Given the description of an element on the screen output the (x, y) to click on. 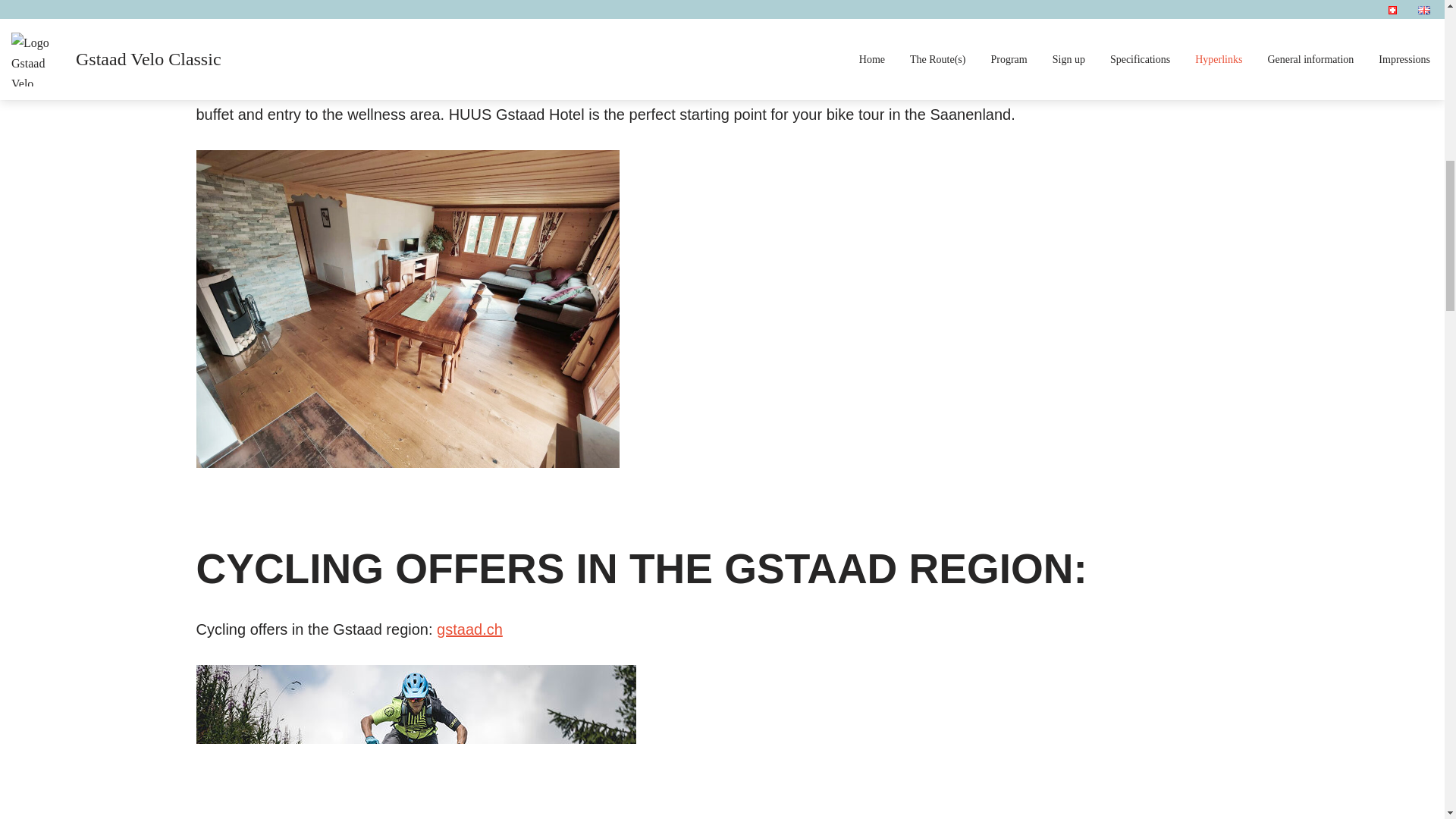
gstaad.ch (434, 39)
gstaad.ch (469, 628)
HUUS Gstaad (288, 88)
